Given the description of an element on the screen output the (x, y) to click on. 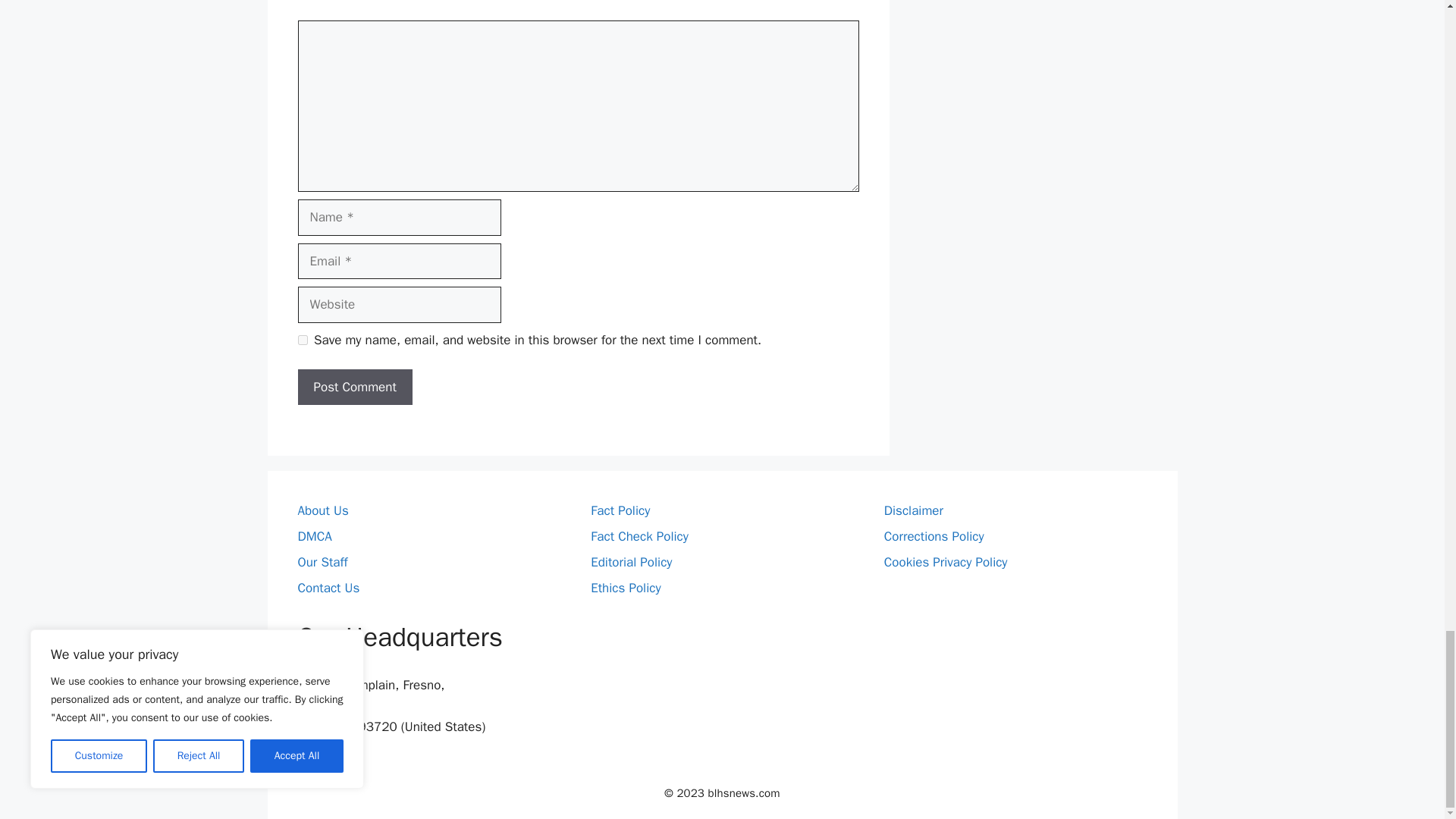
Post Comment (354, 387)
yes (302, 339)
Post Comment (354, 387)
